Given the description of an element on the screen output the (x, y) to click on. 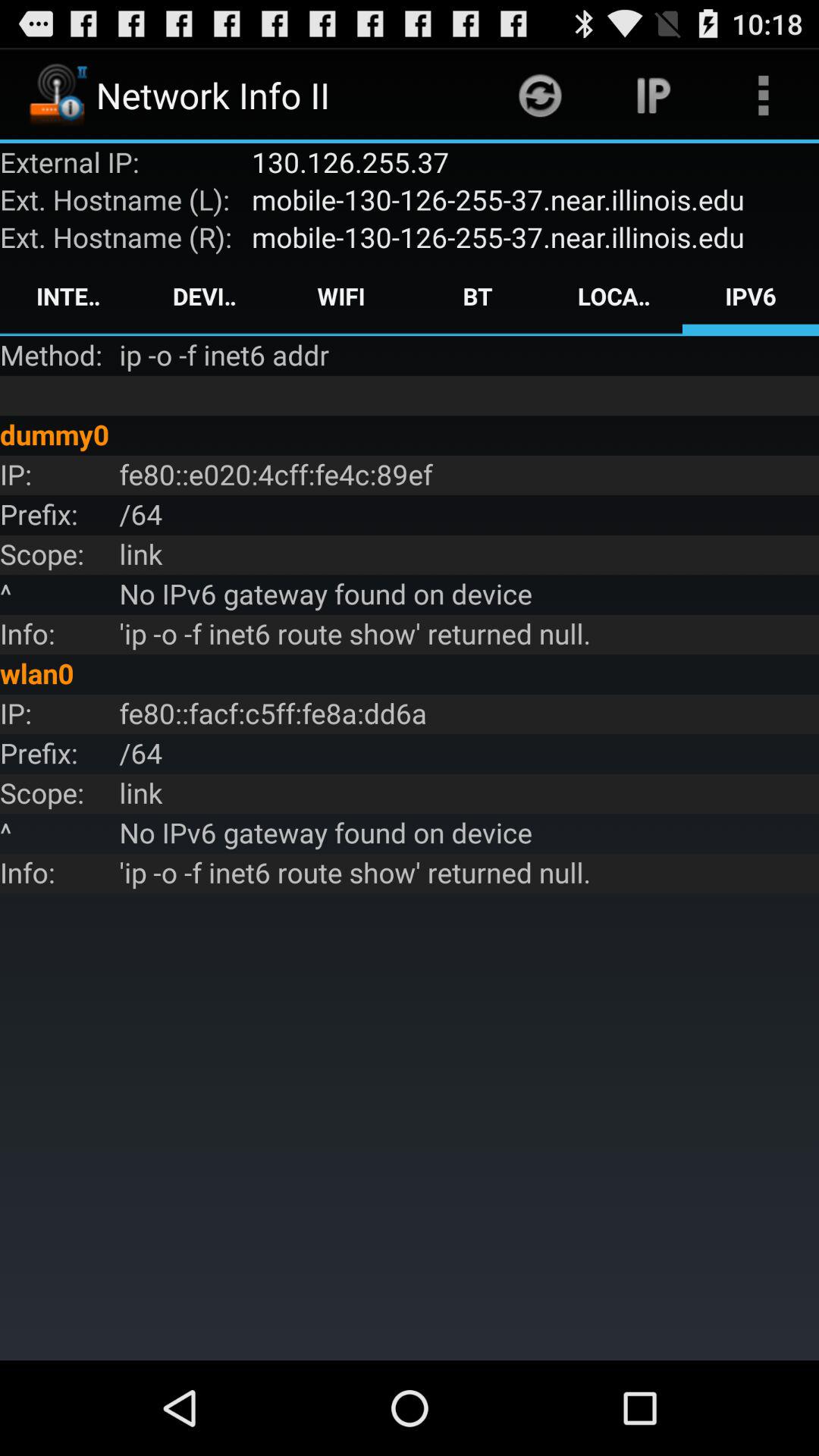
turn off app above the ip o f app (614, 295)
